Given the description of an element on the screen output the (x, y) to click on. 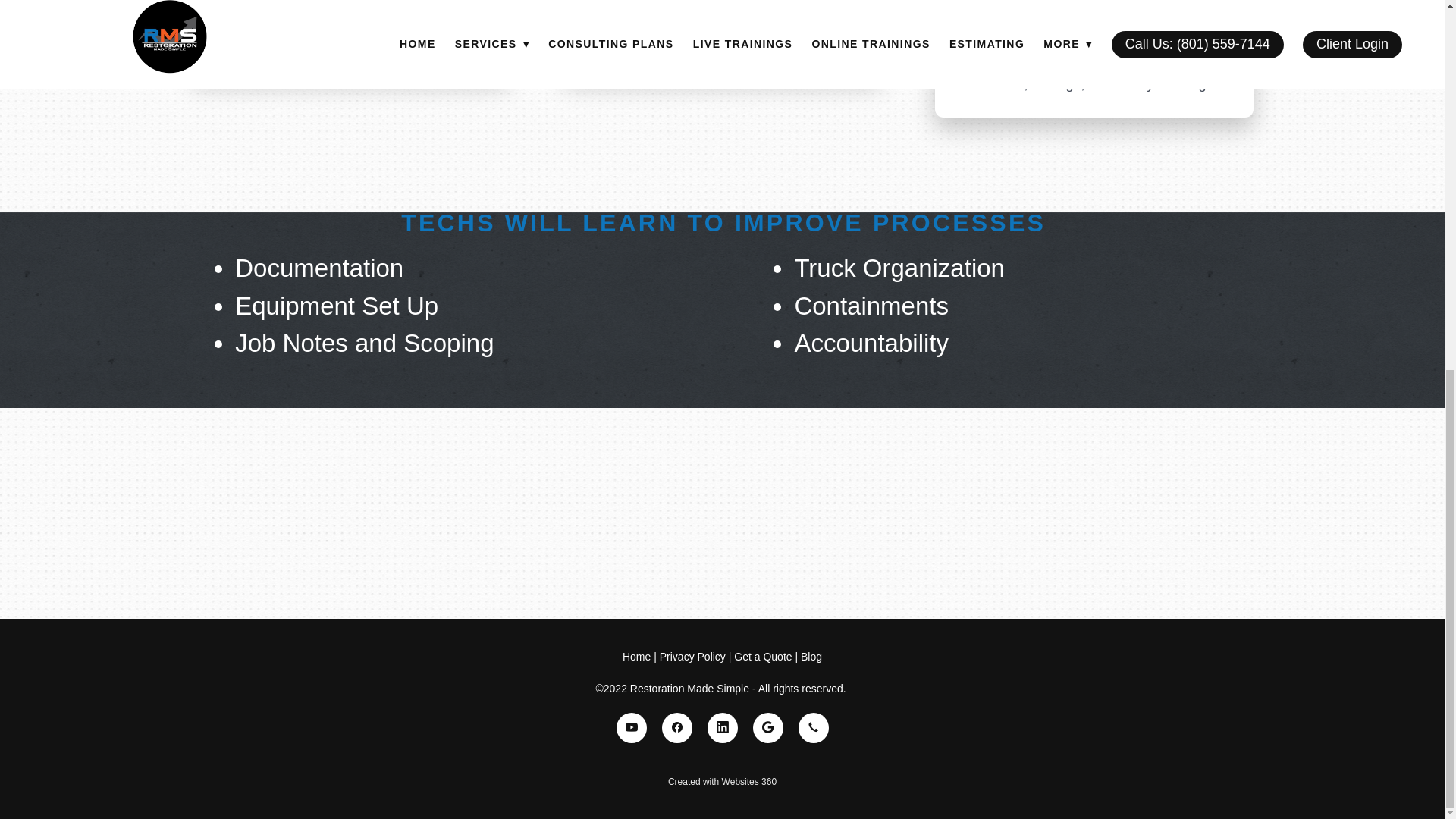
Home (638, 656)
Blog (811, 656)
Created with Websites 360 (722, 781)
Get a Quote (762, 656)
Privacy Policy (692, 656)
